Given the description of an element on the screen output the (x, y) to click on. 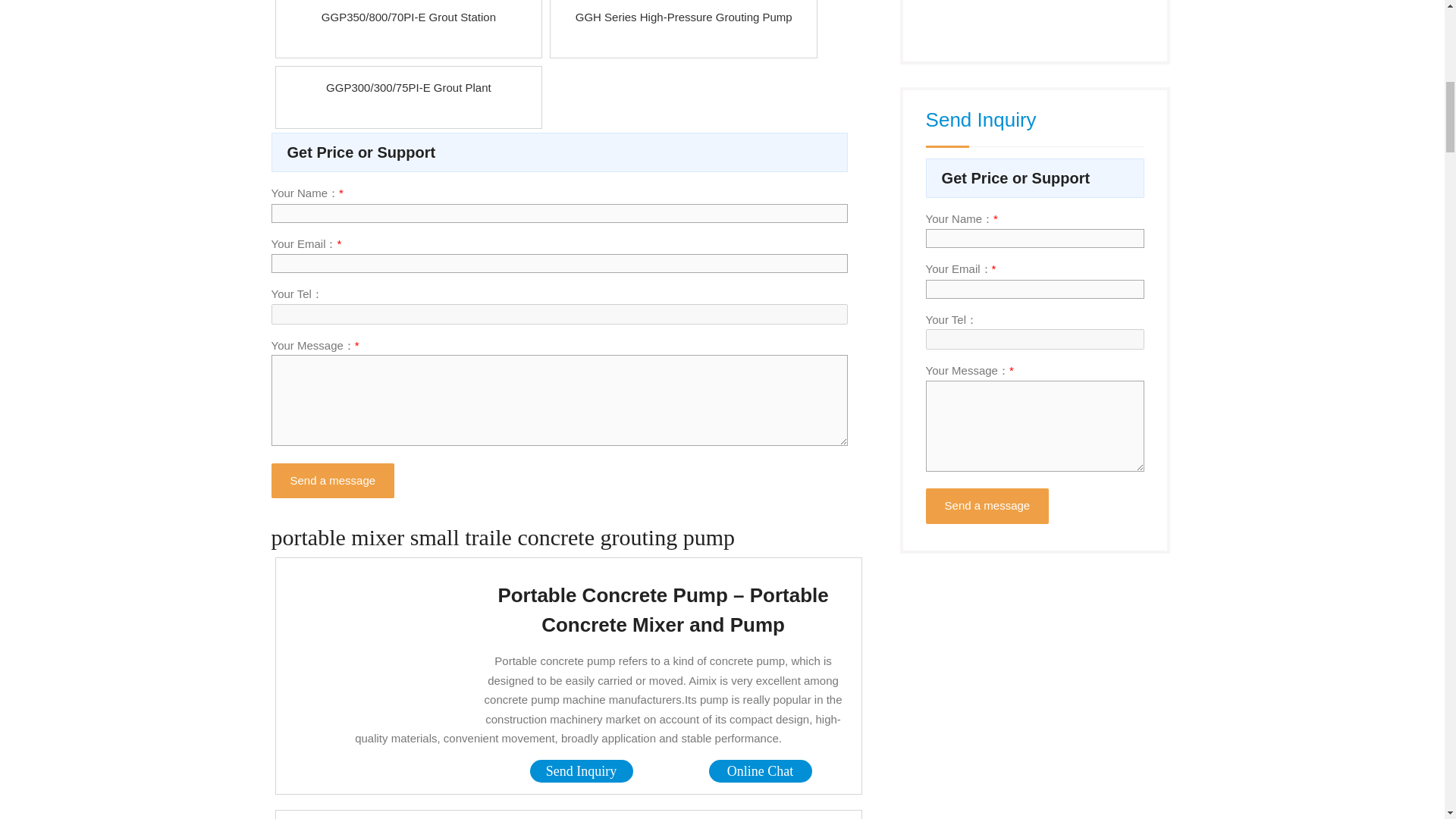
Send a message (987, 506)
Send a message (332, 480)
